Given the description of an element on the screen output the (x, y) to click on. 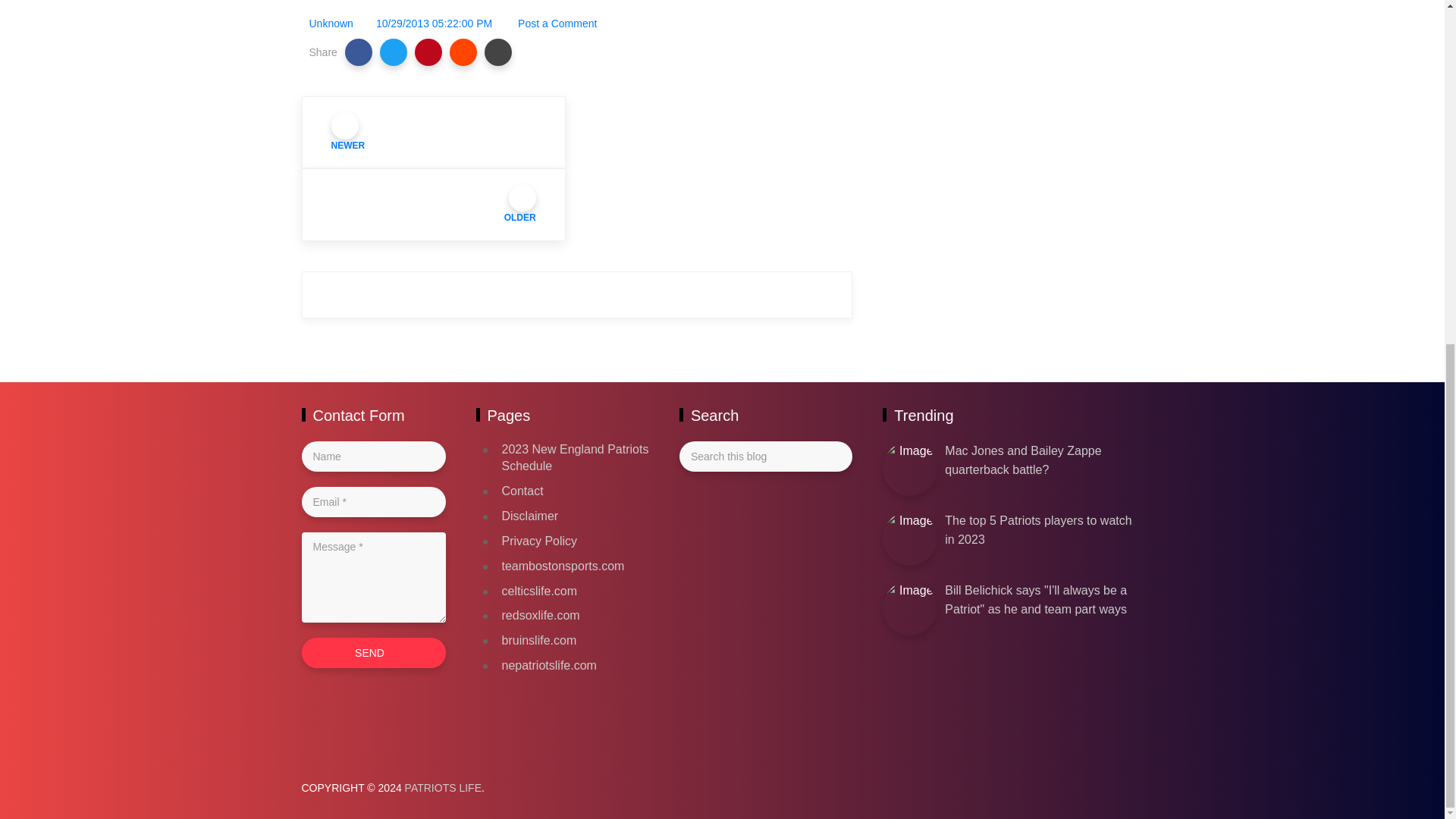
NEWER (433, 132)
Share to Reddit (463, 52)
Unknown (330, 23)
OLDER (433, 204)
Disclaimer (530, 515)
Share to Facebook (358, 52)
Post a Comment (555, 23)
author profile (330, 23)
Share to Pinterest (428, 52)
2023 New England Patriots Schedule (575, 458)
